Given the description of an element on the screen output the (x, y) to click on. 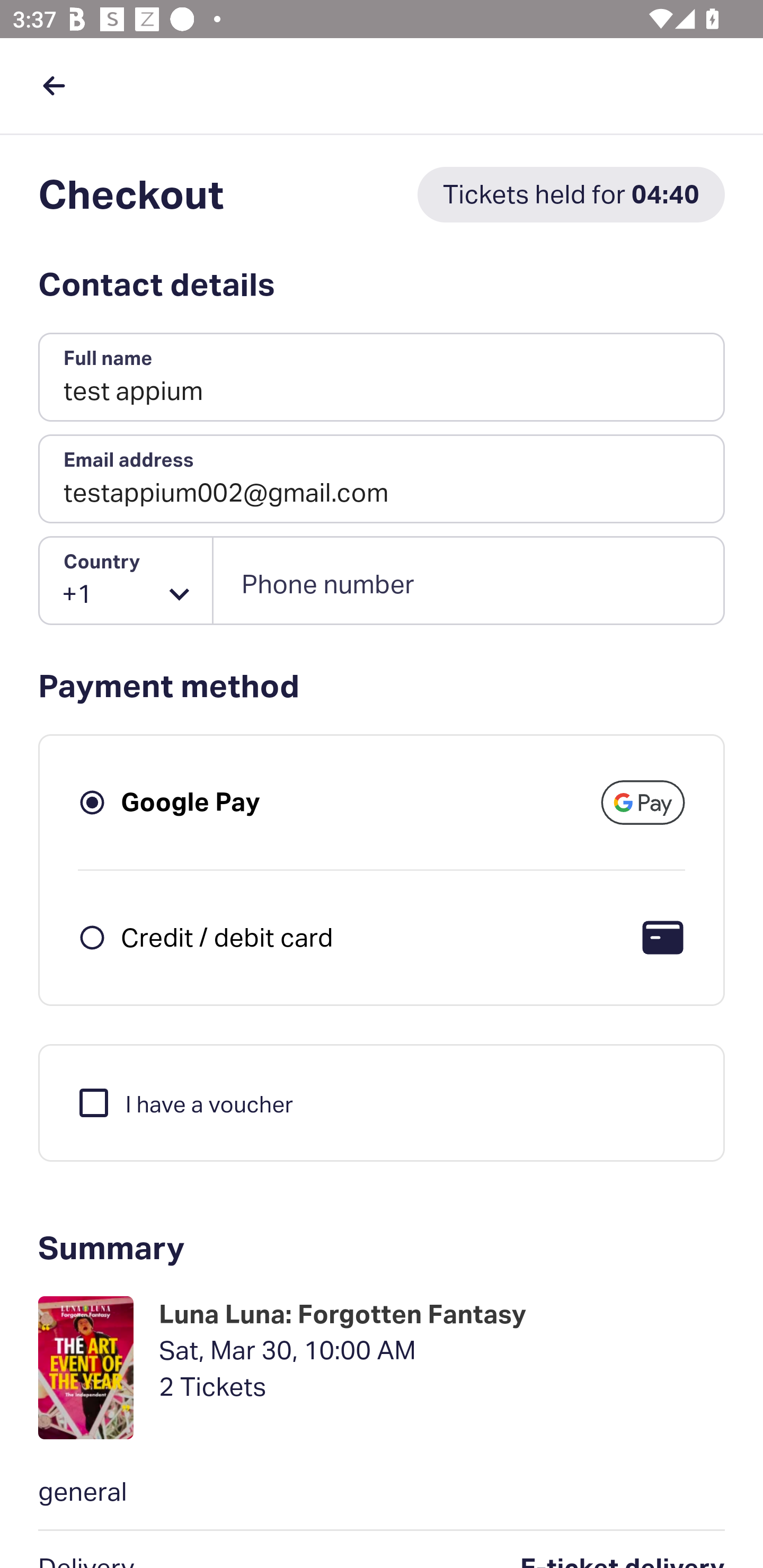
back button (53, 85)
test appium (381, 377)
testappium002@gmail.com (381, 478)
  +1 (126, 580)
Google Pay (190, 802)
Credit / debit card (227, 936)
I have a voucher (183, 1101)
